Given the description of an element on the screen output the (x, y) to click on. 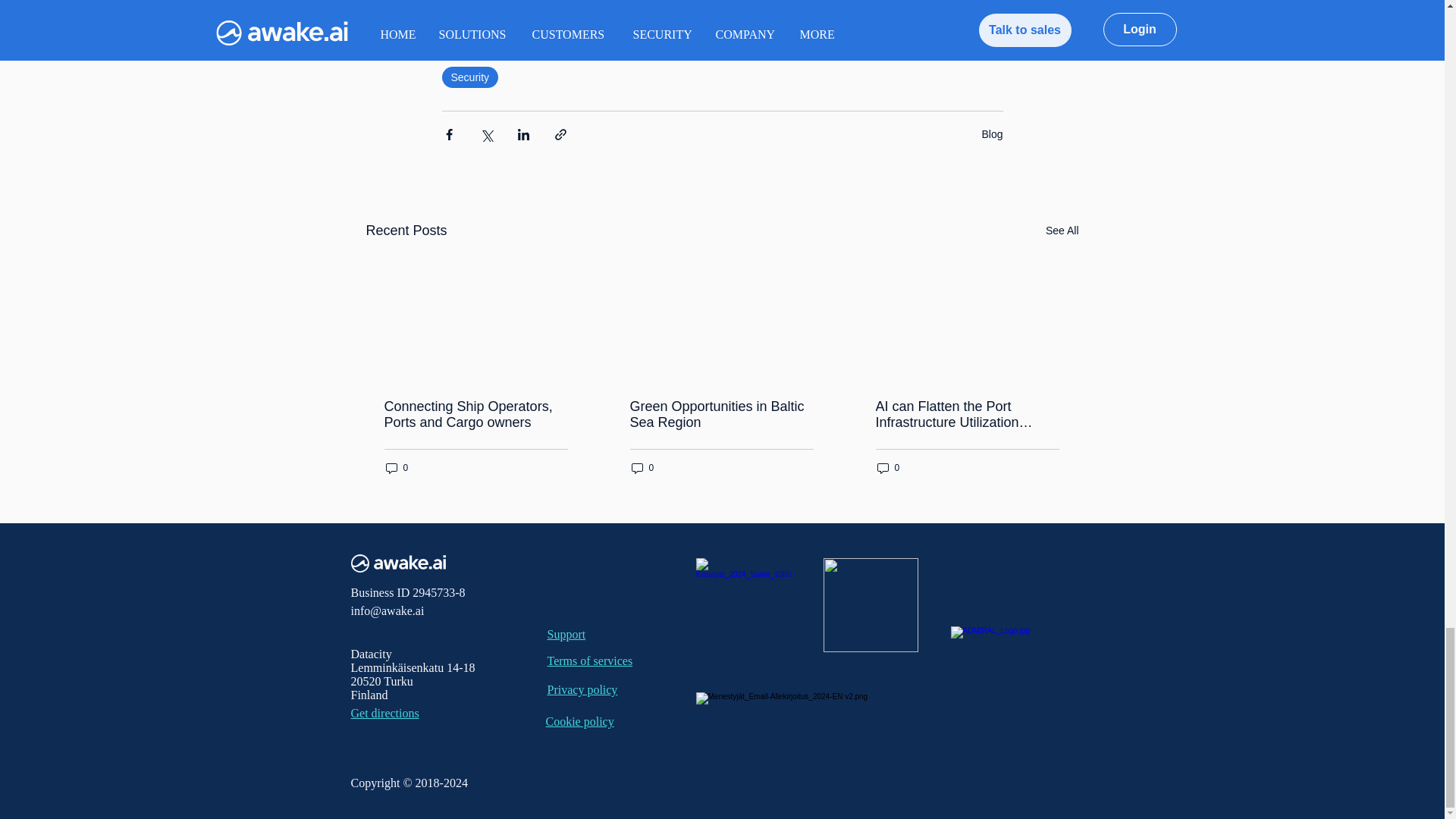
Trade Newspaper (742, 604)
Awake.AI is in EU Project ADMIRAL (1014, 638)
AWS qualified software.png (871, 604)
Security (469, 76)
